Given the description of an element on the screen output the (x, y) to click on. 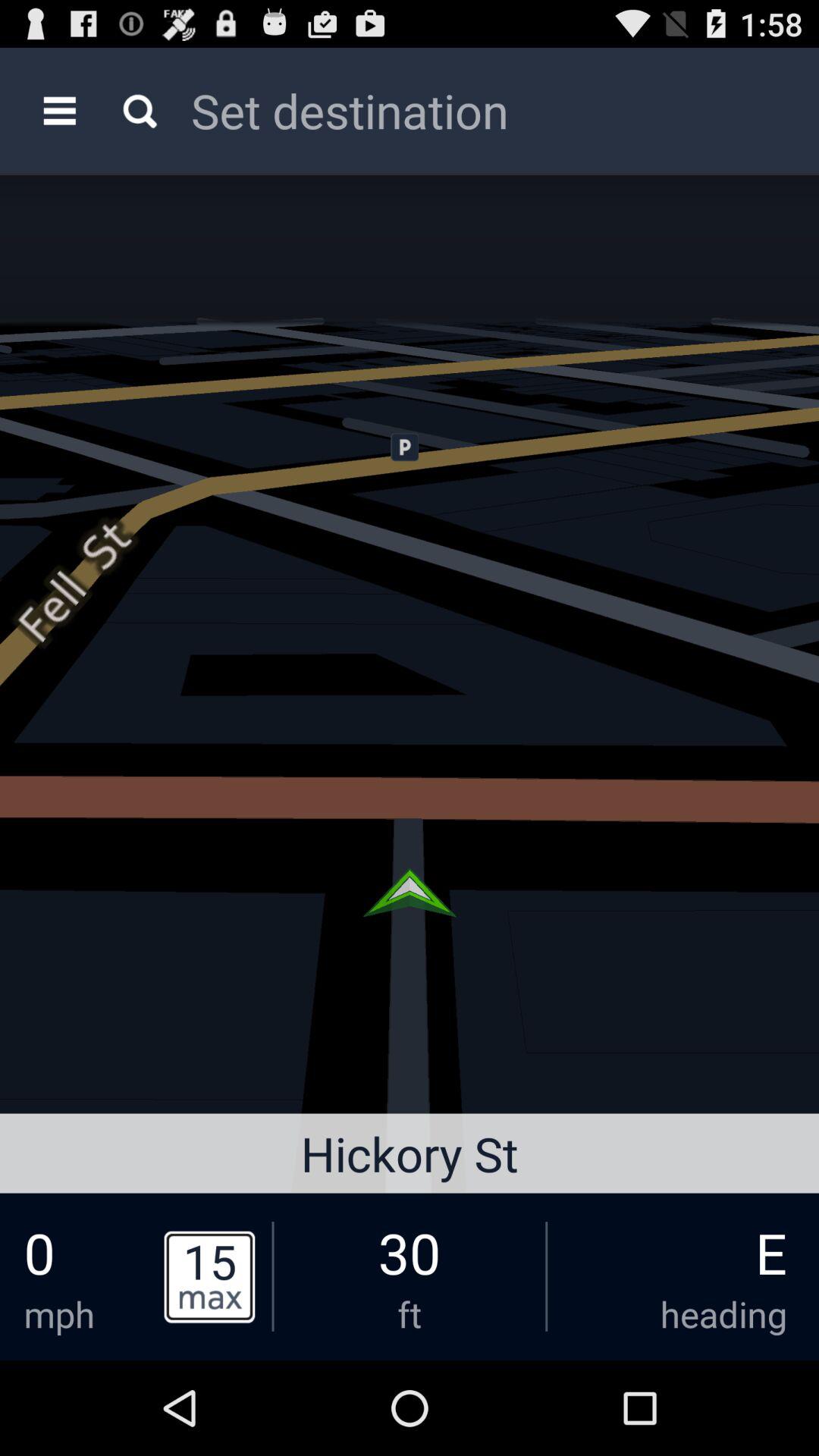
click on the button which is to the right of search button (480, 110)
select the button which is on the top left corner of page (59, 110)
